Given the description of an element on the screen output the (x, y) to click on. 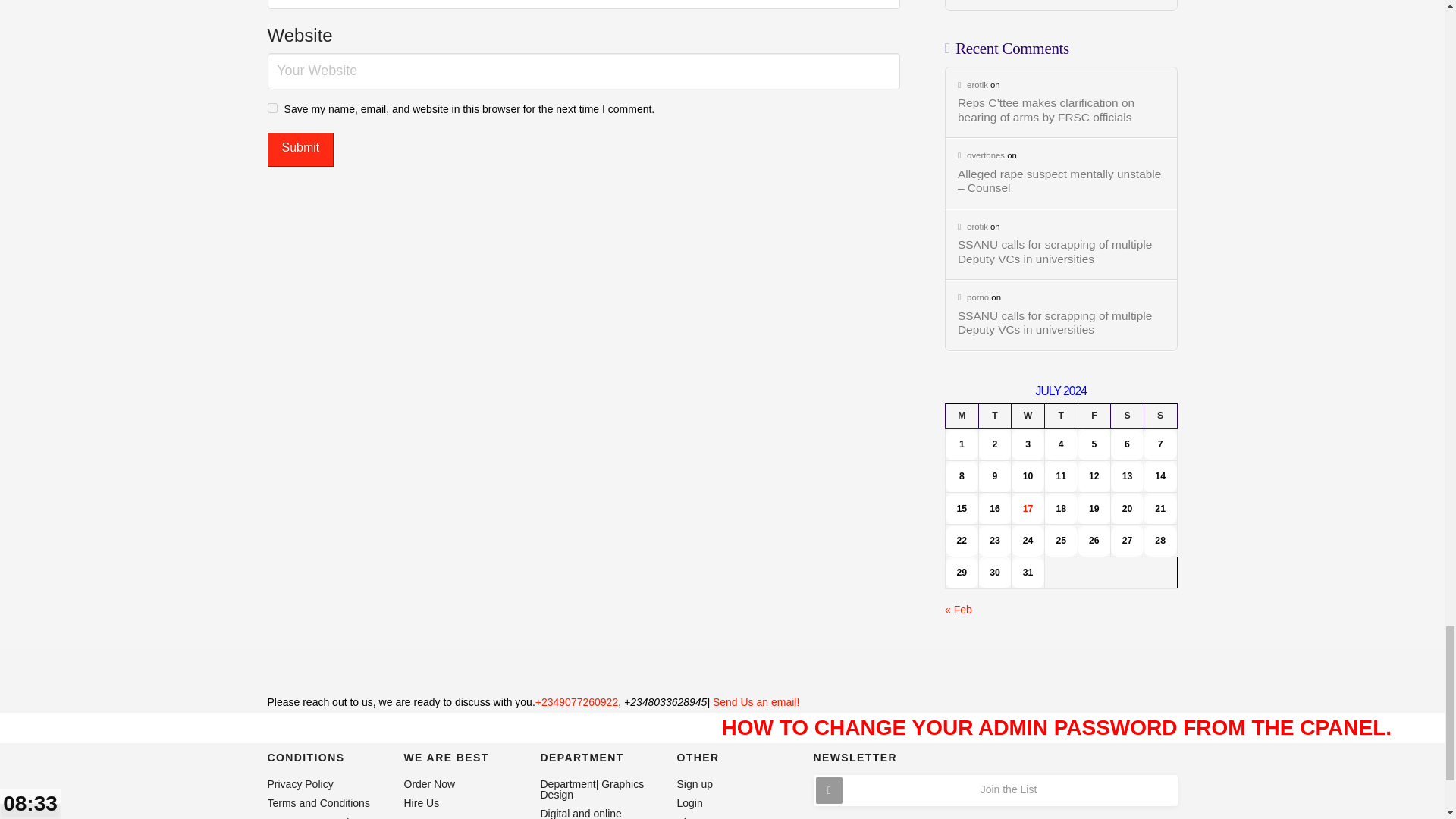
17 (1028, 508)
Submit (299, 149)
yes (271, 108)
Saturday (1127, 416)
Monday (961, 416)
Friday (1093, 416)
overtones (981, 154)
porno (973, 297)
Sunday (1159, 416)
Submit (299, 149)
erotik (973, 225)
erotik (973, 84)
Wednesday (1028, 416)
